Given the description of an element on the screen output the (x, y) to click on. 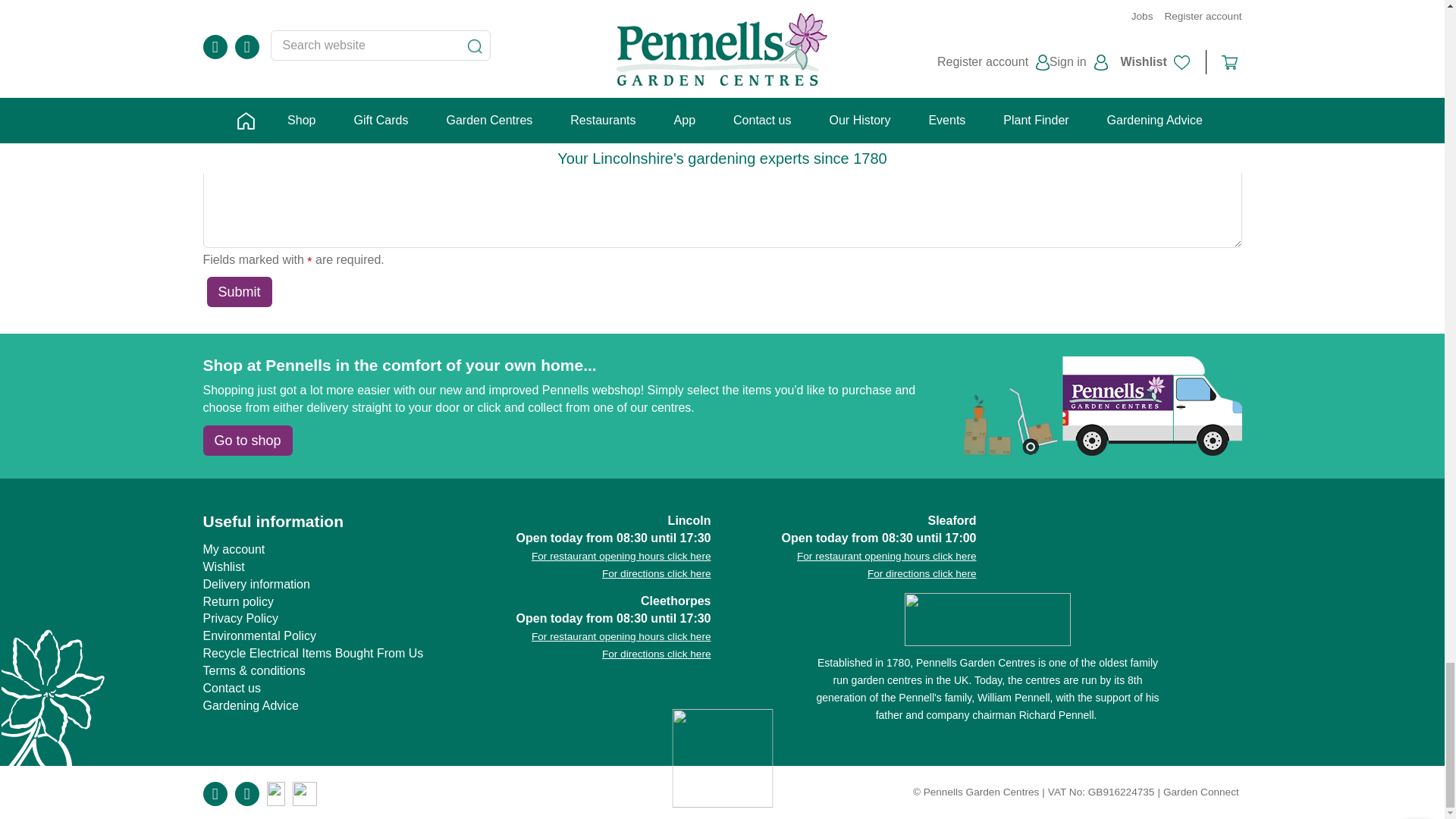
Submit (238, 291)
